Given the description of an element on the screen output the (x, y) to click on. 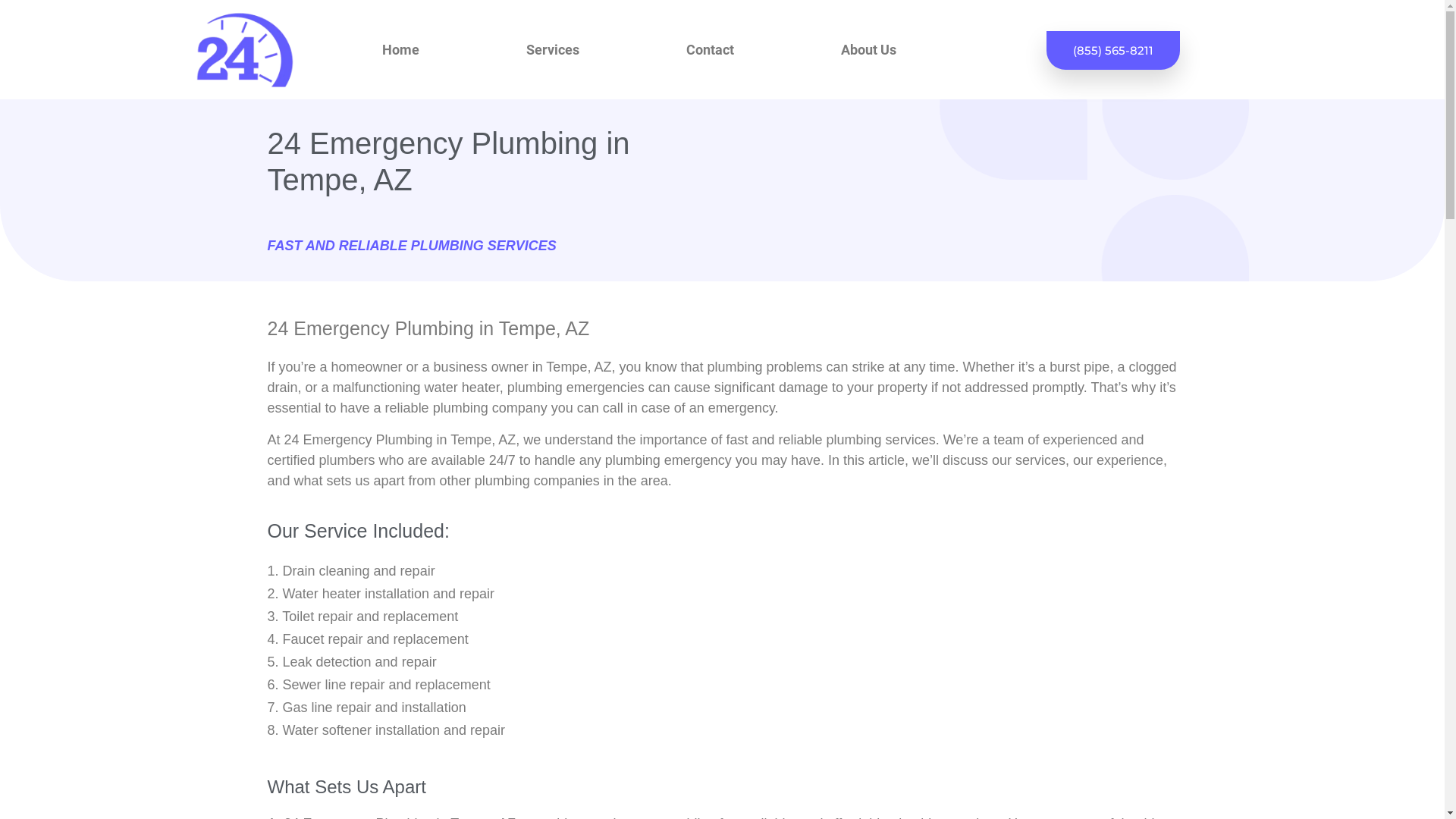
Services Element type: text (552, 49)
Contact Element type: text (710, 49)
Home Element type: text (400, 49)
About Us Element type: text (868, 49)
(855) 565-8211 Element type: text (1112, 49)
